Given the description of an element on the screen output the (x, y) to click on. 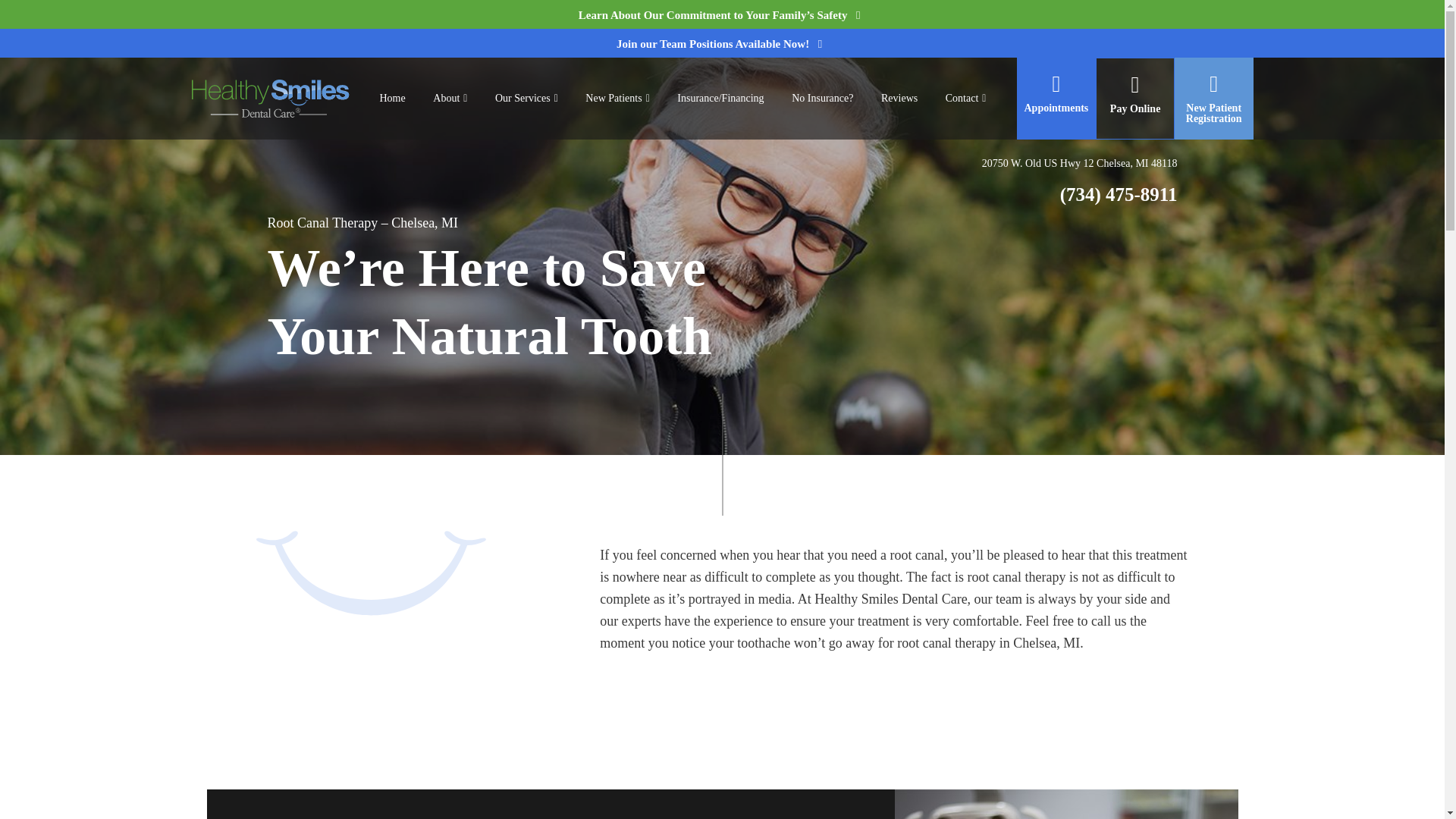
Dental Services (526, 98)
Home (391, 97)
Our Services (526, 98)
About Us (449, 98)
Dentist Chelsea, MI (391, 97)
Join our Team Positions Available Now! (721, 43)
About (449, 98)
